Given the description of an element on the screen output the (x, y) to click on. 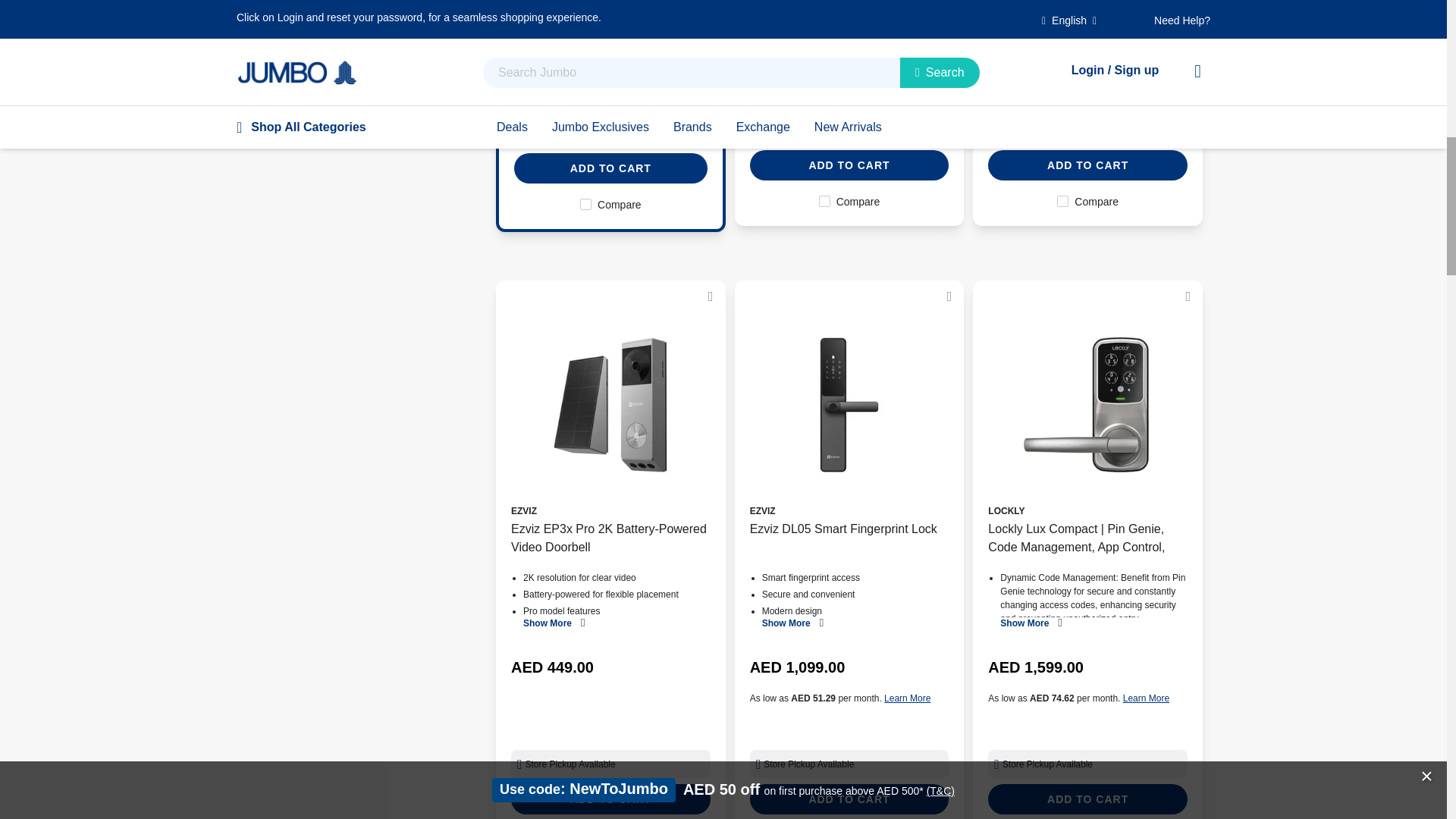
on (823, 201)
on (1062, 201)
Ezviz DL05 Smart Fingerprint Lock (849, 404)
Ezviz EP3x Pro 2K Battery-Powered Video Doorbell (610, 404)
on (585, 204)
Ezviz EP3x Pro 2K Battery-Powered Video Doorbell (610, 537)
Ezviz DL05 Smart Fingerprint Lock (849, 537)
